Given the description of an element on the screen output the (x, y) to click on. 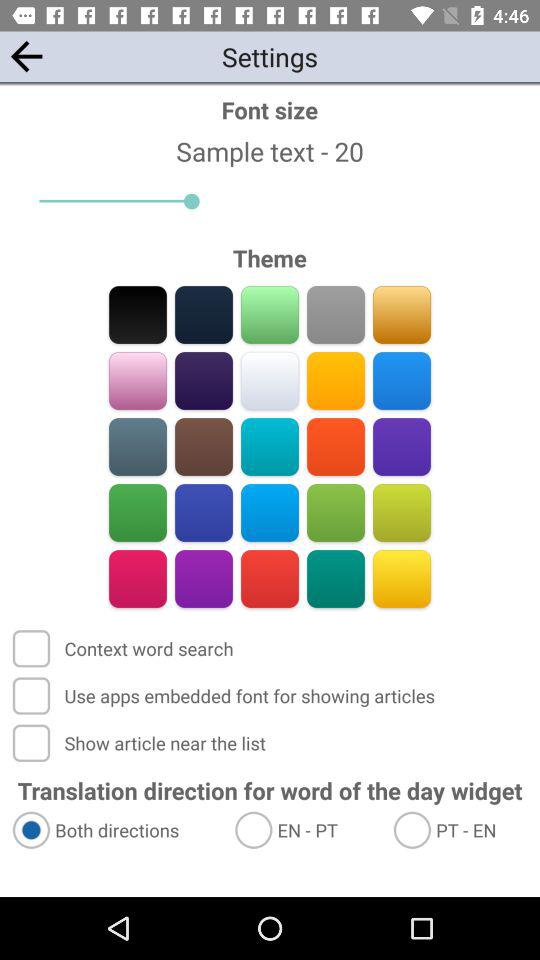
select radio button next to the en - pt (114, 829)
